Given the description of an element on the screen output the (x, y) to click on. 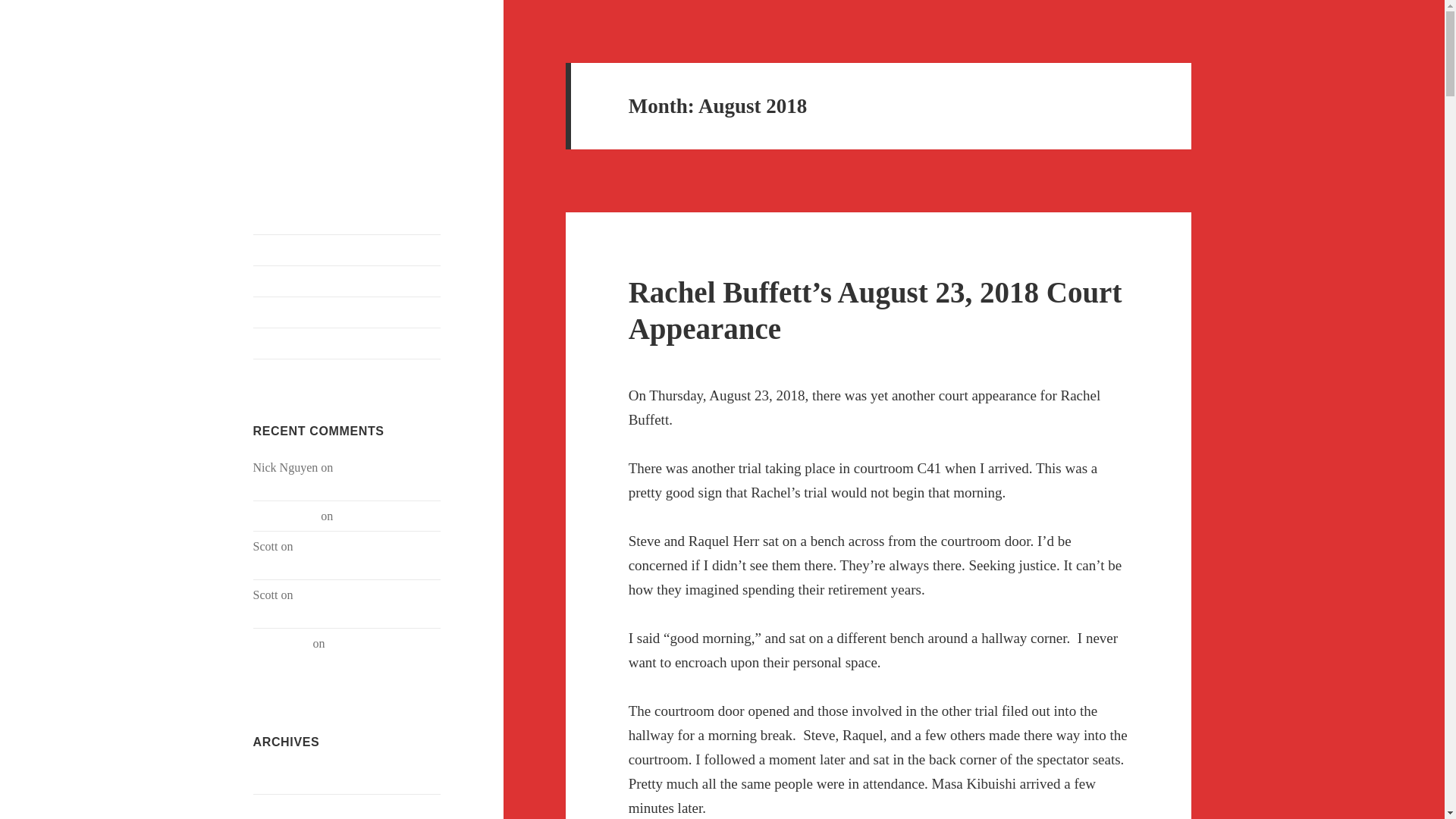
Lake Speed (281, 643)
Frequently Asked Questions (347, 281)
February 2024 (288, 778)
Updates and Some Answers to Questions (342, 554)
May 2022 (277, 808)
Slammer Slang (347, 312)
I Went to Court! (375, 515)
Glossary (347, 343)
Start at the Beginning (347, 250)
Updates and Some Answers to Questions (342, 603)
Nick Nguyen (285, 515)
Daniel Wozniak Is My Friend? (339, 86)
Updates and Some Answers to Questions (336, 652)
